Given the description of an element on the screen output the (x, y) to click on. 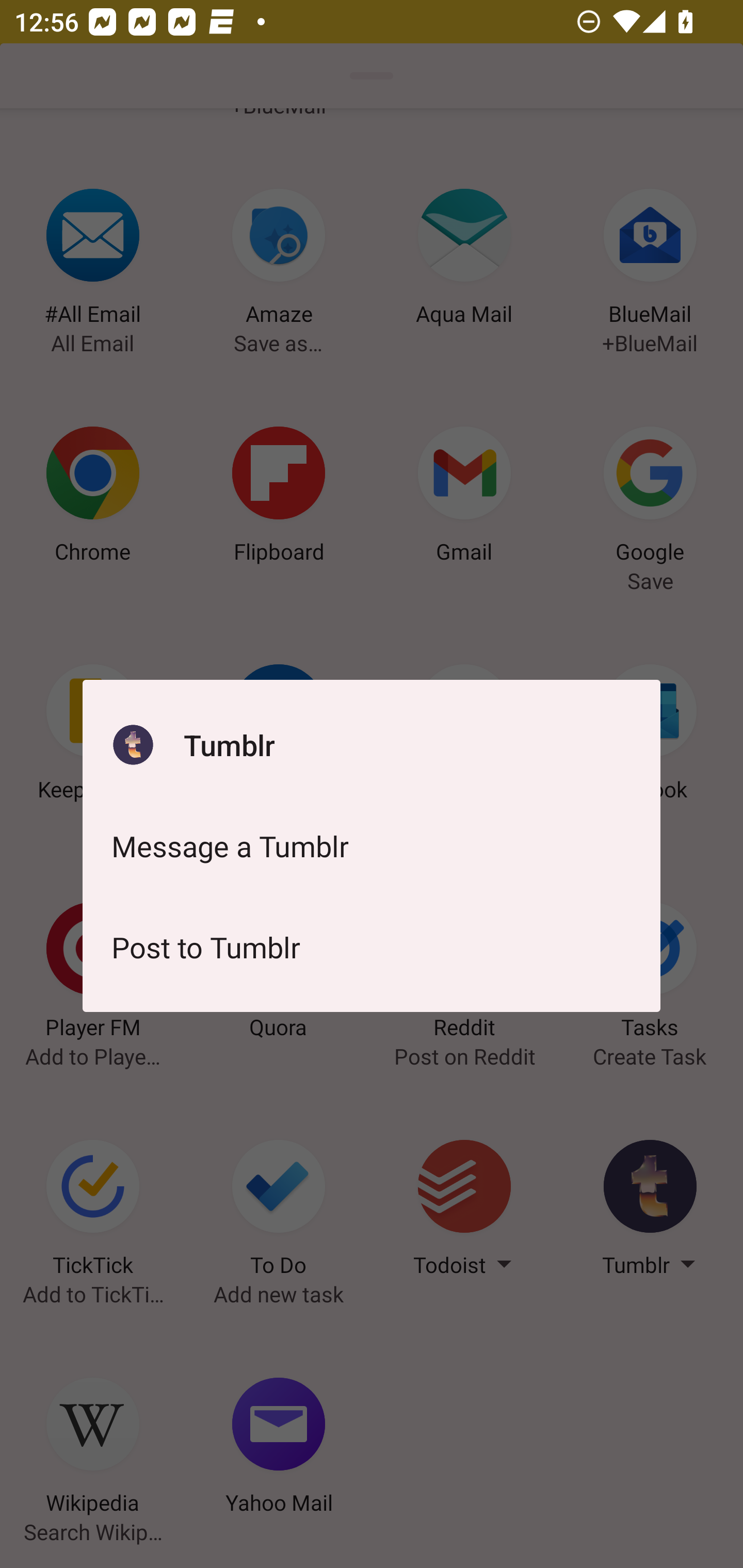
Message a Tumblr (371, 845)
Post to Tumblr (371, 946)
